Given the description of an element on the screen output the (x, y) to click on. 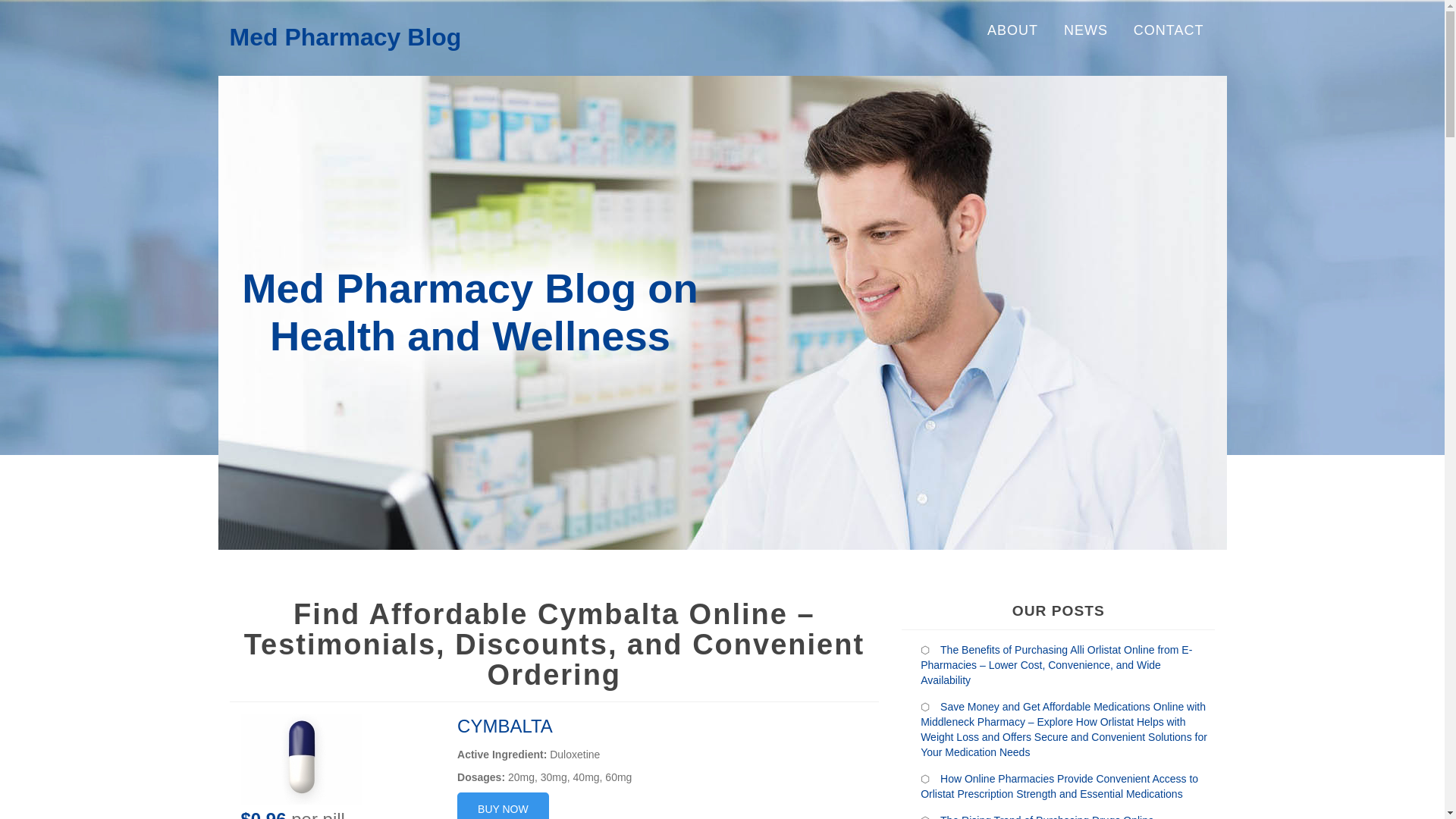
BUY NOW (502, 805)
CONTACT (1168, 30)
Everything You Need To Know About Health and Wellness (344, 36)
Med Pharmacy Blog (344, 36)
NEWS (1085, 30)
ABOUT (1012, 30)
